Given the description of an element on the screen output the (x, y) to click on. 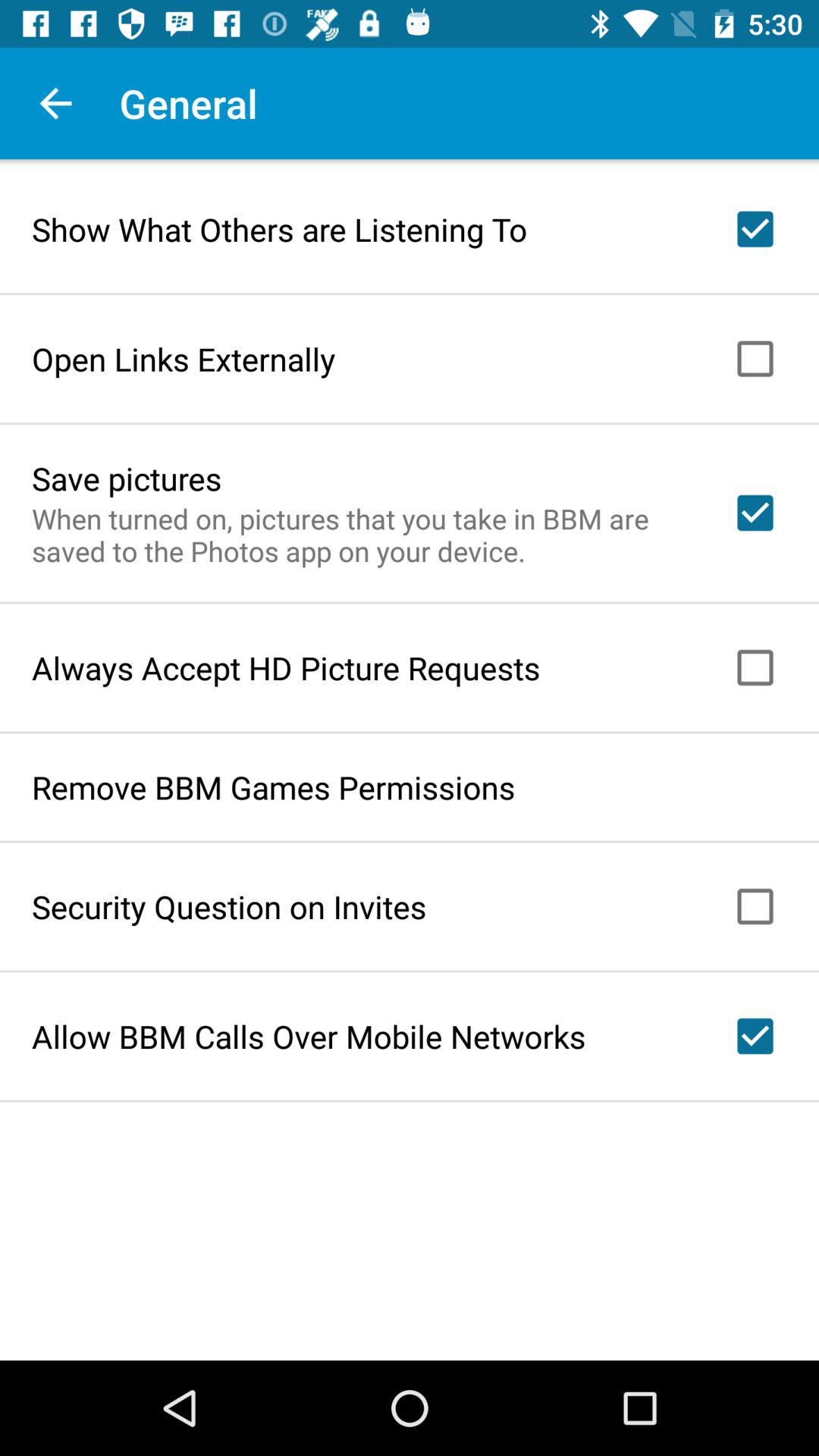
tap the app next to general (55, 103)
